Given the description of an element on the screen output the (x, y) to click on. 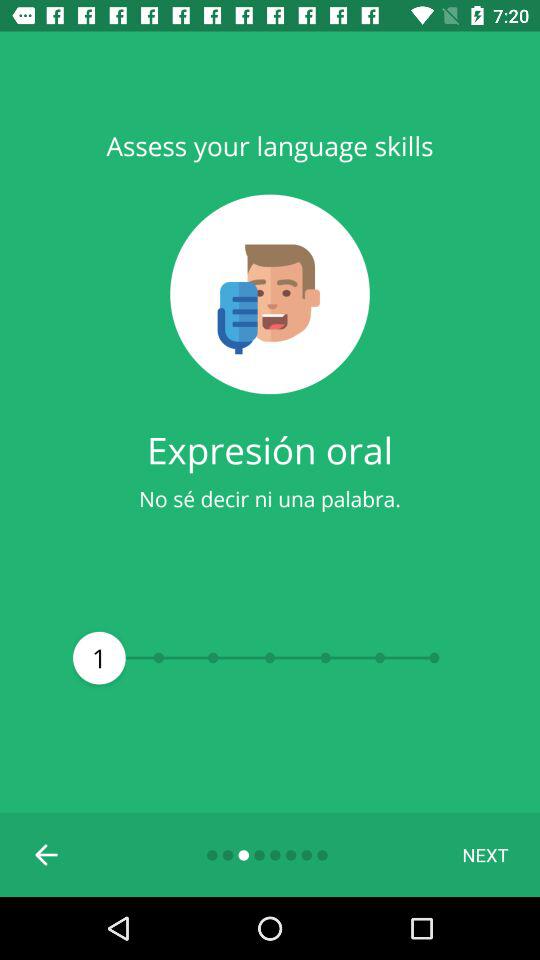
back (47, 855)
